Given the description of an element on the screen output the (x, y) to click on. 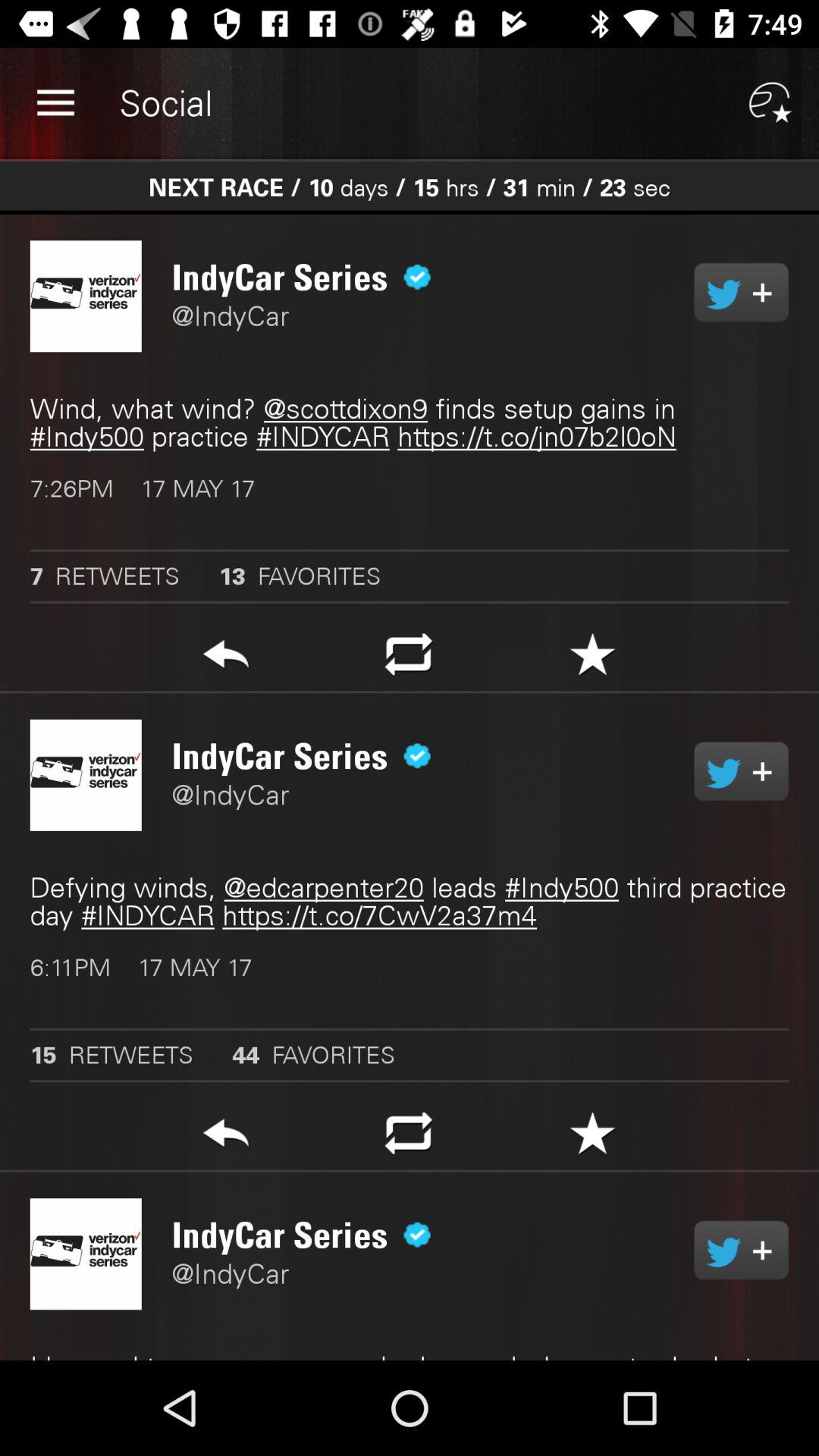
shuffle (408, 1137)
